Given the description of an element on the screen output the (x, y) to click on. 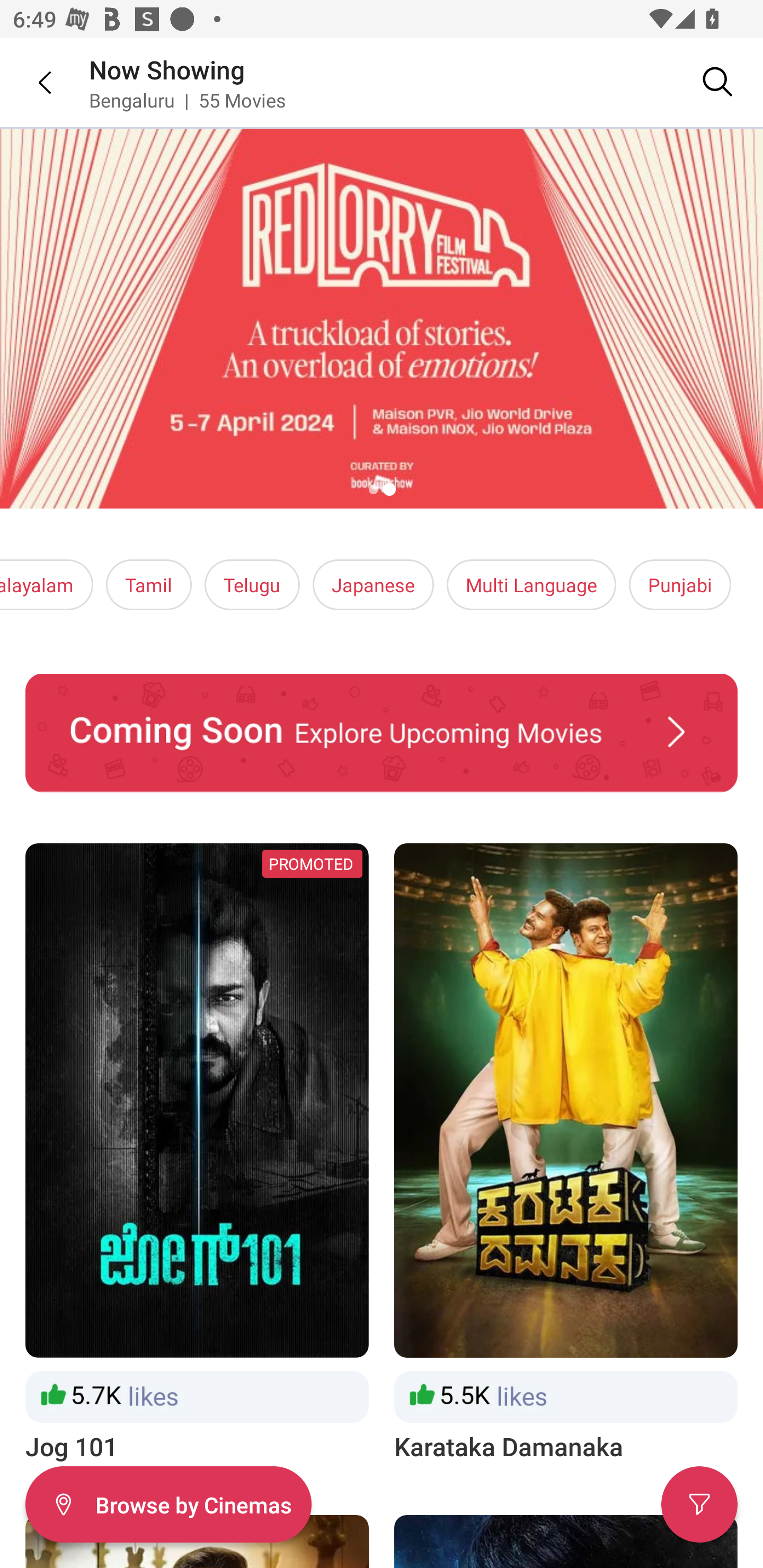
Back (31, 82)
Now Showing (166, 68)
Bengaluru  |  55 Movies (187, 99)
Tamil (148, 584)
Telugu (251, 584)
Japanese (373, 584)
Multi Language (531, 584)
Punjabi (679, 584)
Jog 101 PROMOTED (196, 1153)
Karataka Damanaka (565, 1153)
Filter Browse by Cinemas (168, 1504)
Filter (699, 1504)
